Given the description of an element on the screen output the (x, y) to click on. 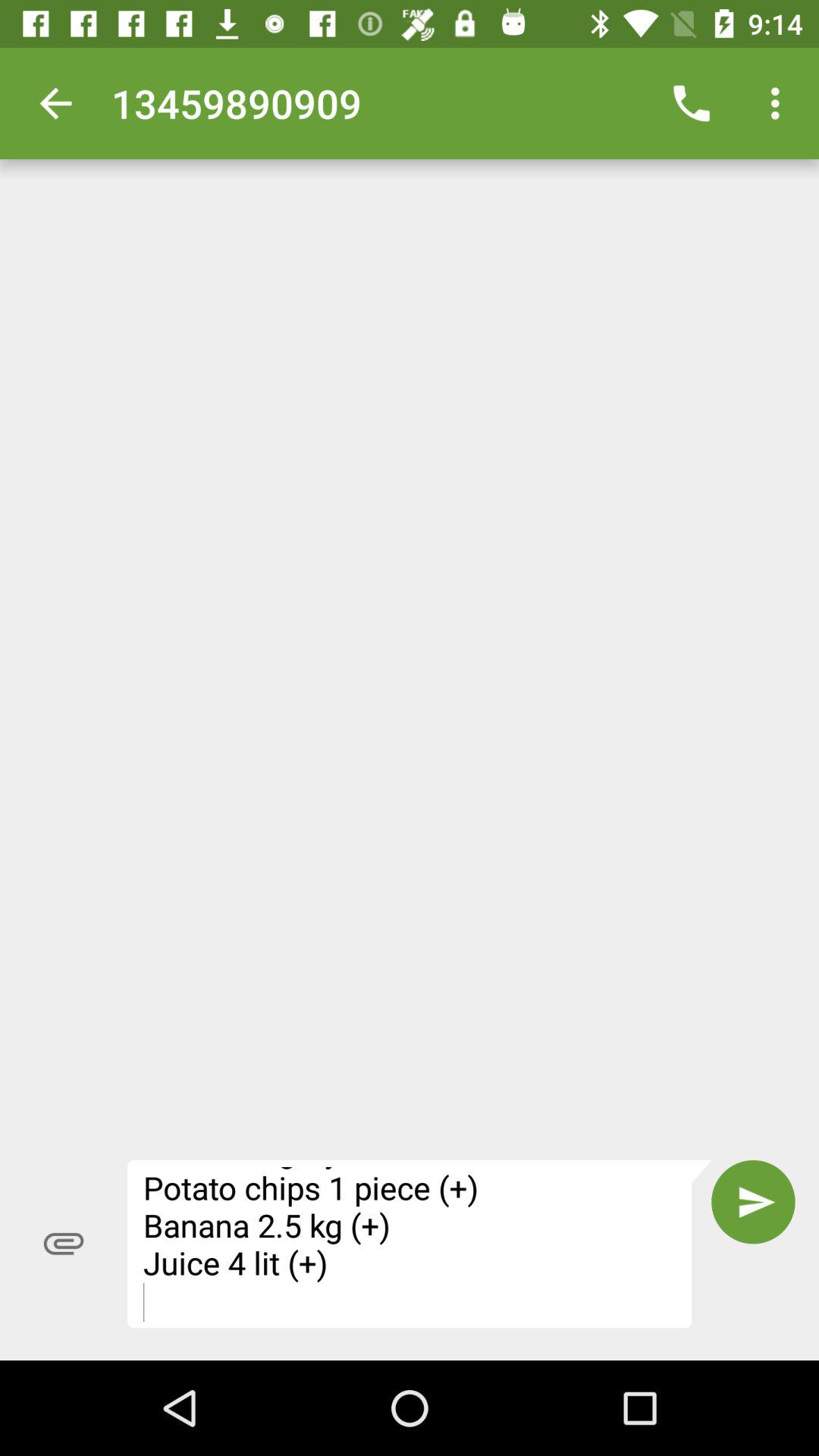
launch the icon next to the 13459890909 icon (55, 103)
